Given the description of an element on the screen output the (x, y) to click on. 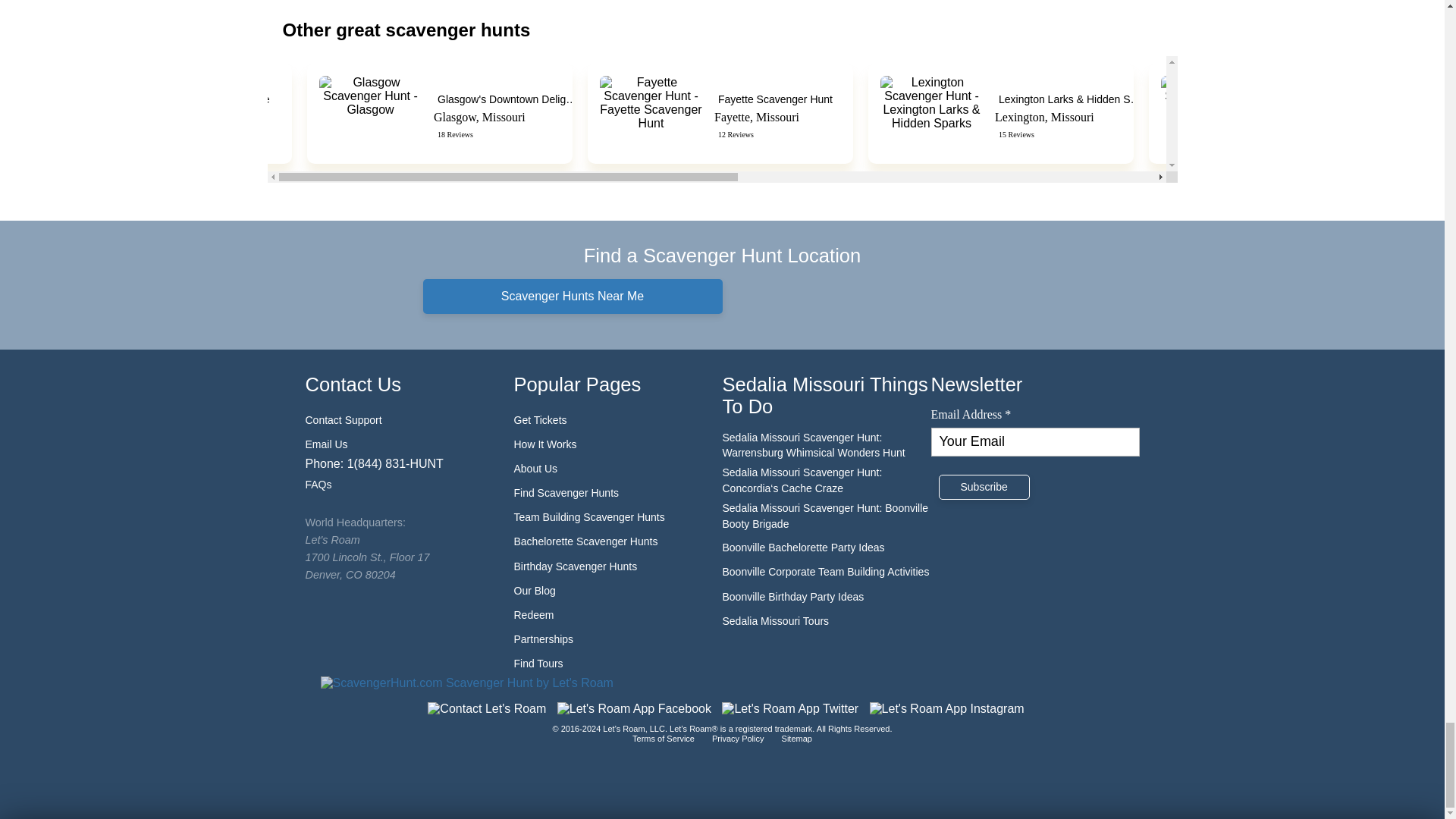
Subscribe (984, 487)
